Given the description of an element on the screen output the (x, y) to click on. 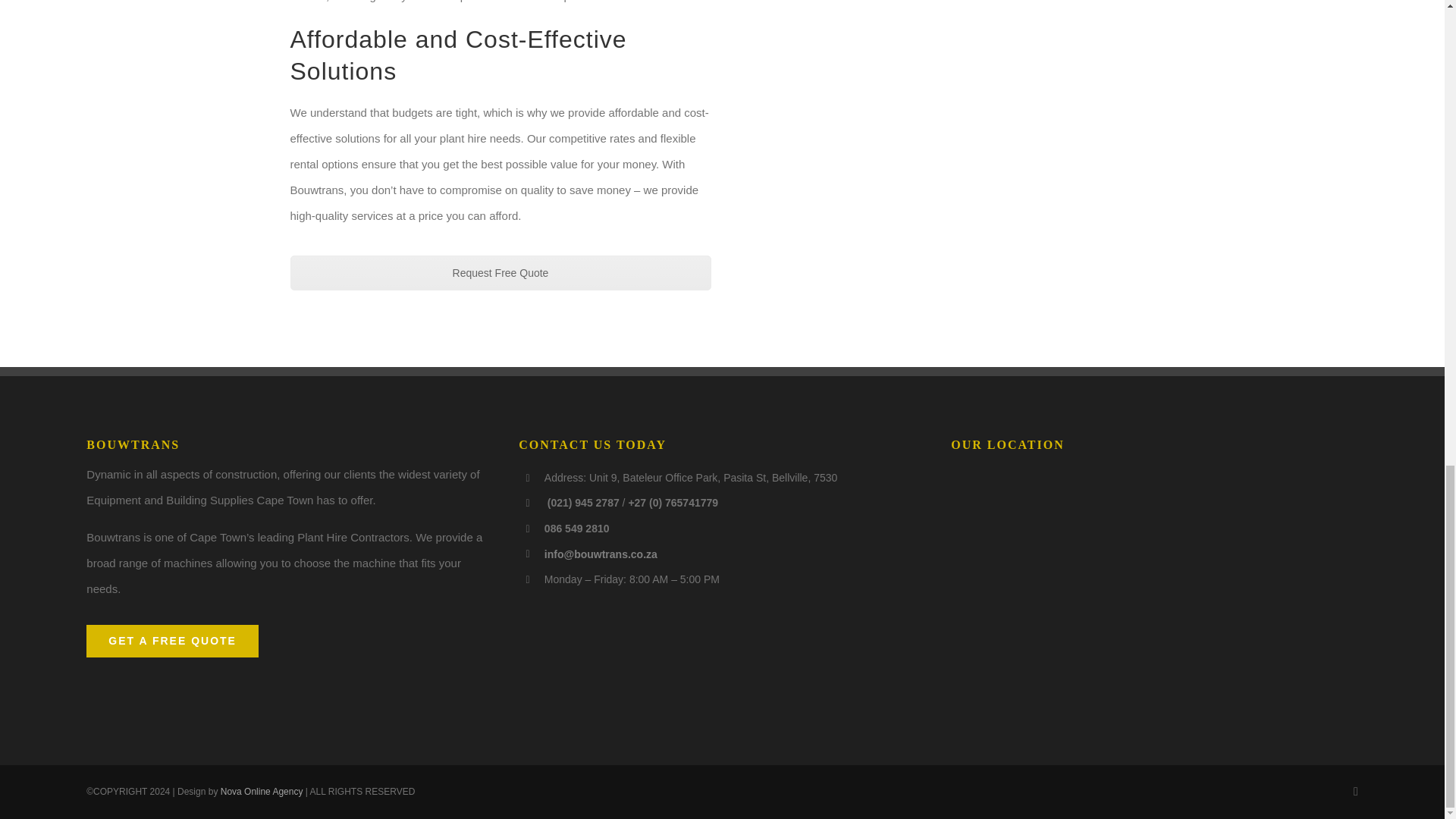
GET A FREE QUOTE (172, 640)
Contact Us (499, 272)
Request Free Quote (499, 272)
Nova Online Agency (261, 791)
